Given the description of an element on the screen output the (x, y) to click on. 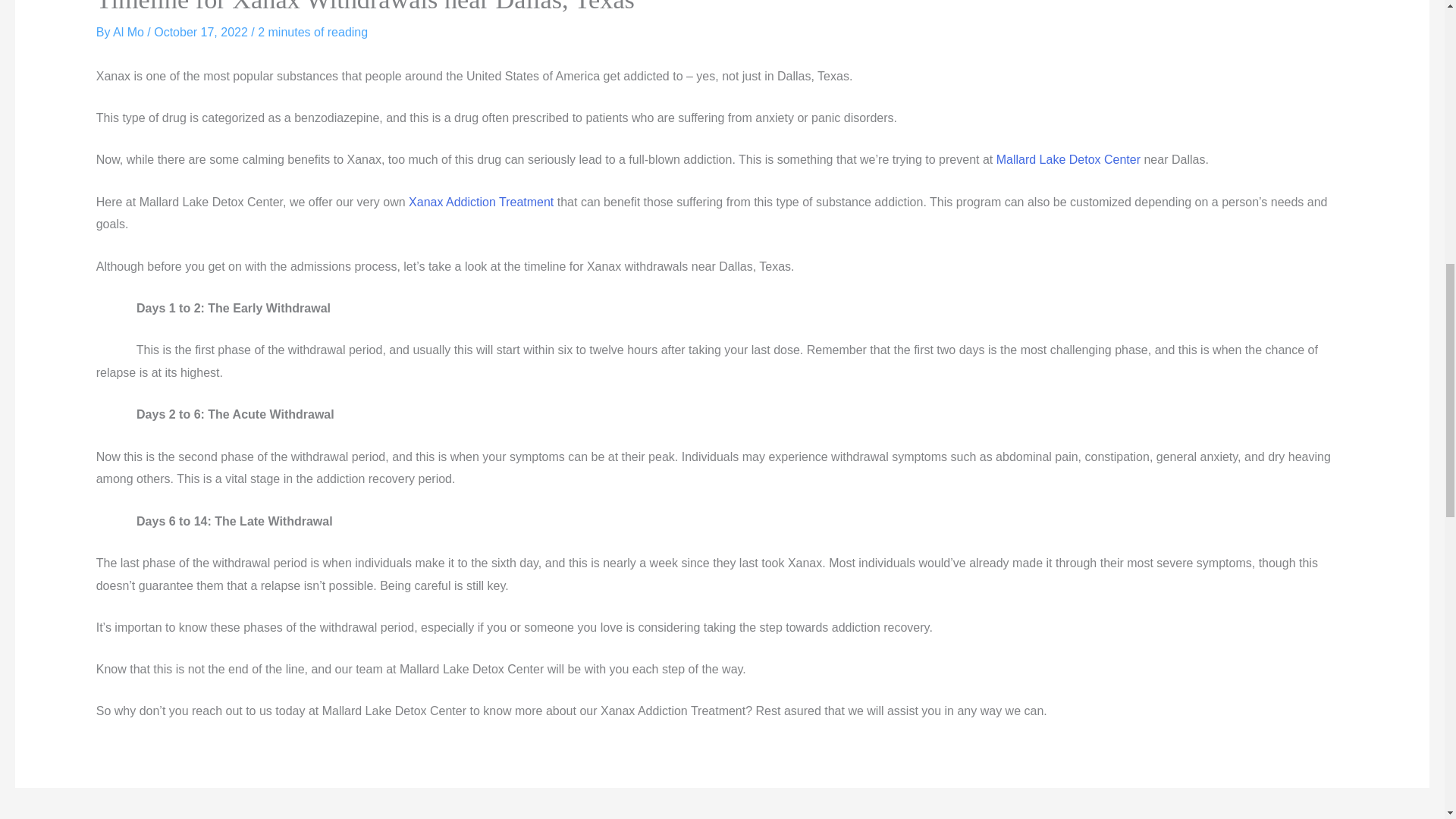
Xanax Addiction Treatment (481, 201)
View all posts by Al Mo (130, 31)
Where to Get Xanax Addiction Treatment near Dallas, Texas (119, 816)
Fighting Xanax Addiction in Dallas, Texas (1334, 816)
Mallard Lake Detox Center (1067, 159)
Al Mo (130, 31)
